Given the description of an element on the screen output the (x, y) to click on. 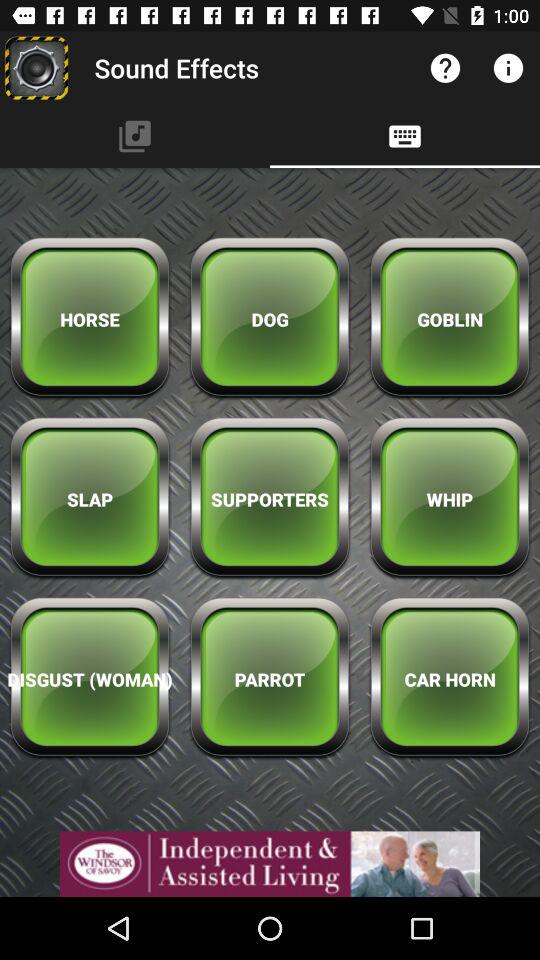
click on parrot (269, 679)
click on the music icon (134, 135)
select the option below question mark (404, 135)
select the information icon on top right (508, 68)
click on button left to information button (445, 68)
click on the slap icon below horse (89, 498)
select the button left side of parrot button (89, 679)
select the second green box in sound effects (269, 319)
